Given the description of an element on the screen output the (x, y) to click on. 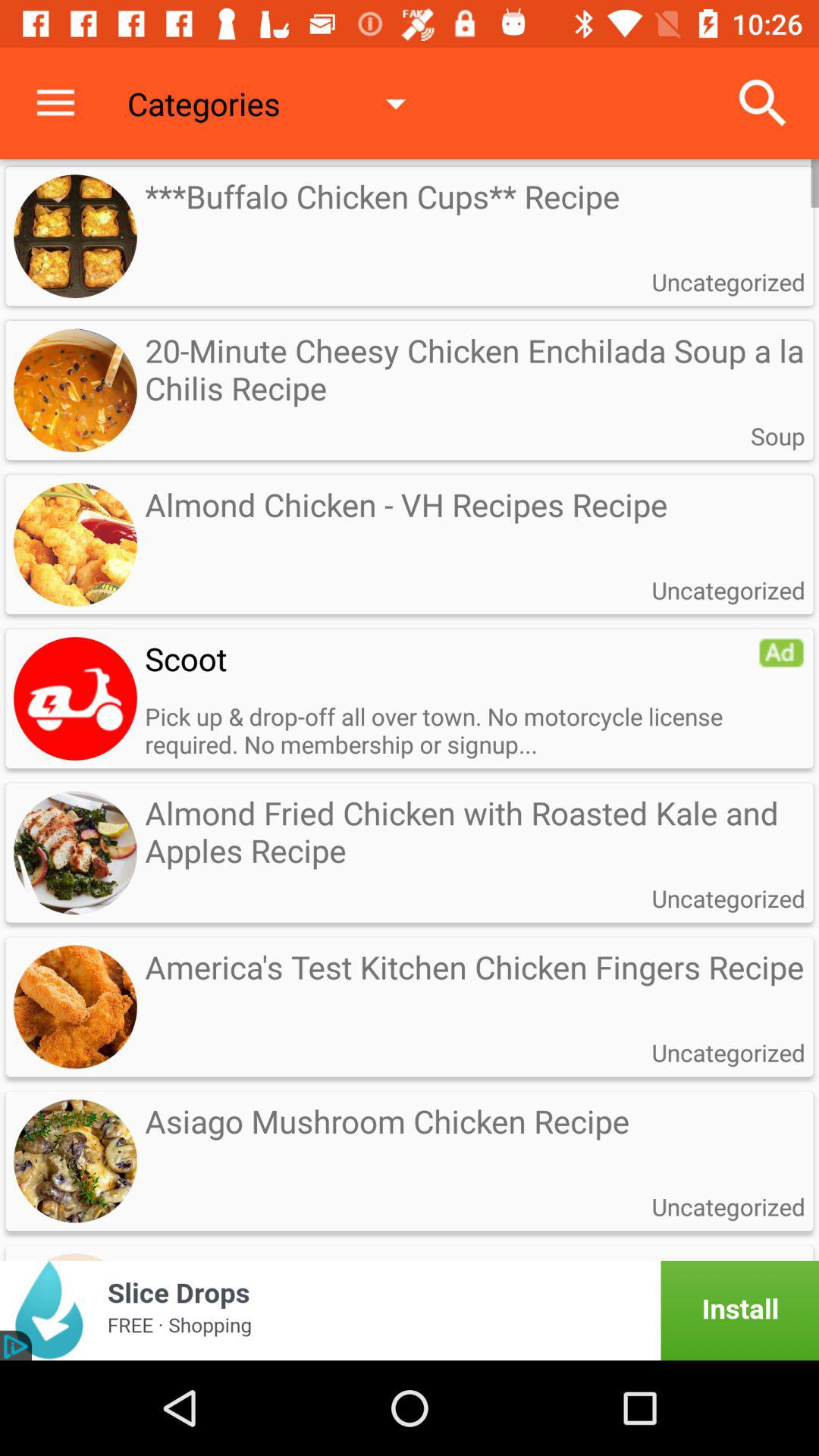
advertisement page (409, 1310)
